Given the description of an element on the screen output the (x, y) to click on. 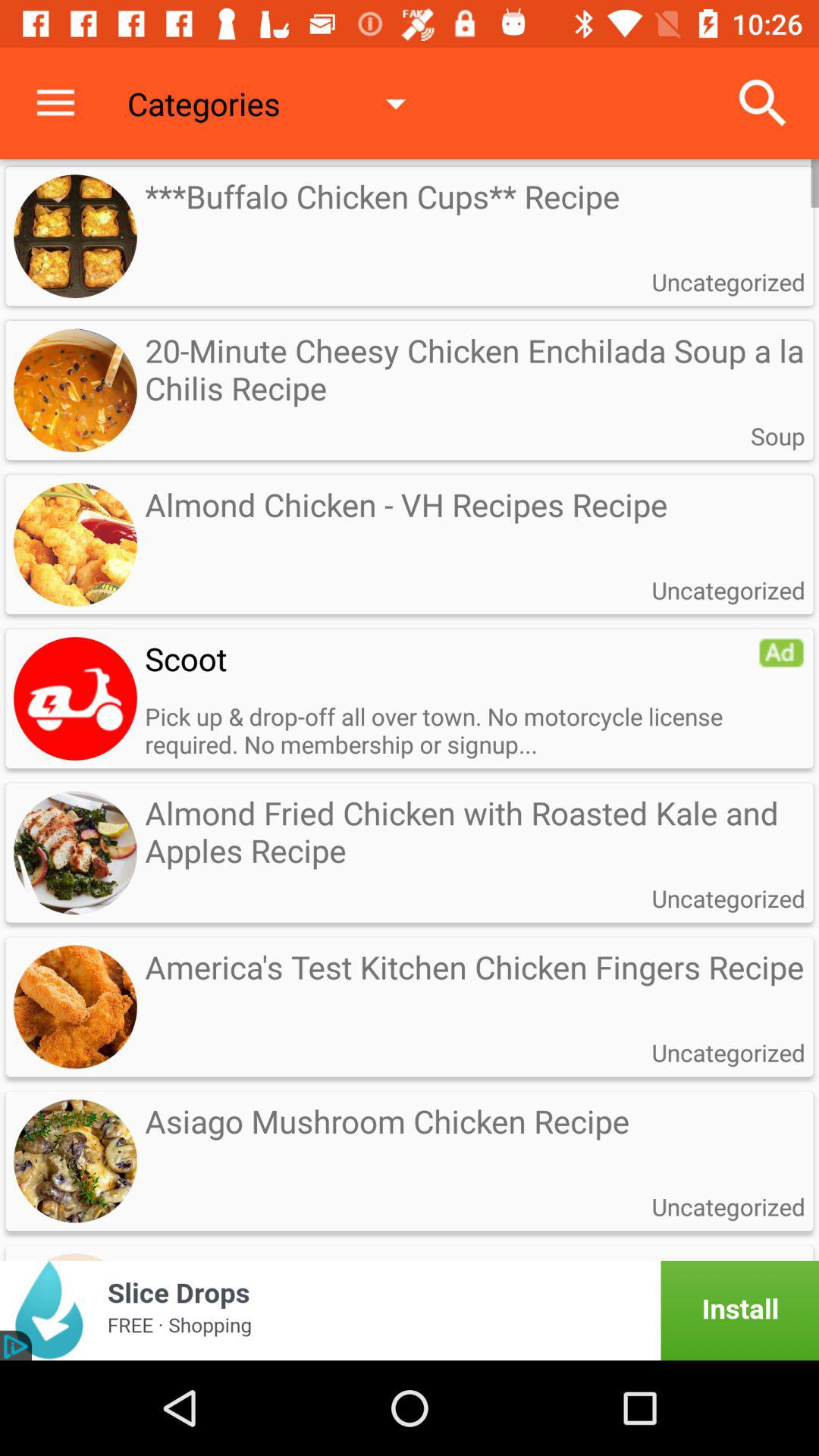
advertisement page (409, 1310)
